Given the description of an element on the screen output the (x, y) to click on. 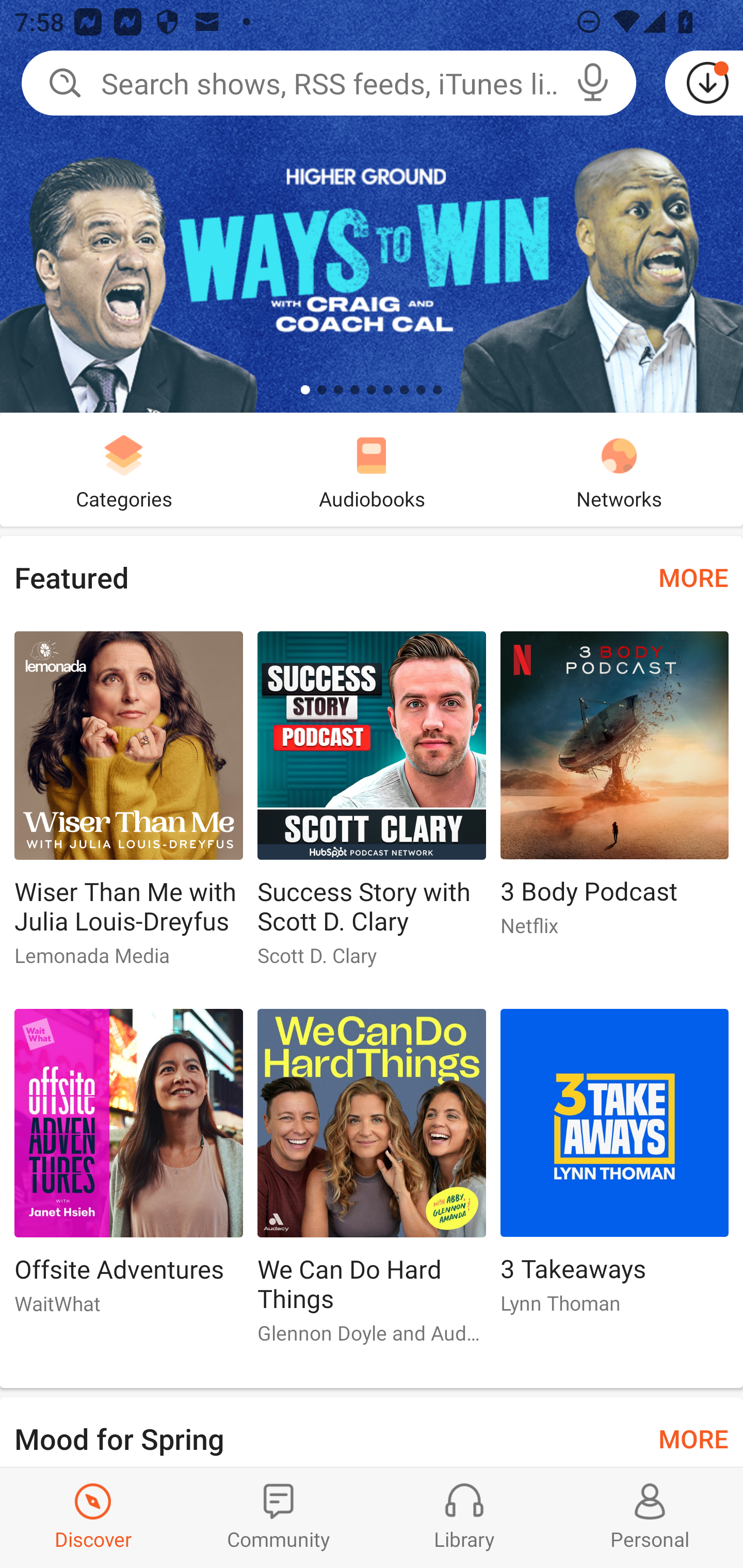
Ways To Win (371, 206)
Categories (123, 469)
Audiobooks (371, 469)
Networks (619, 469)
MORE (693, 576)
3 Body Podcast 3 Body Podcast Netflix (614, 792)
Offsite Adventures Offsite Adventures WaitWhat (128, 1169)
3 Takeaways 3 Takeaways Lynn Thoman (614, 1169)
MORE (693, 1436)
Discover (92, 1517)
Community (278, 1517)
Library (464, 1517)
Profiles and Settings Personal (650, 1517)
